Given the description of an element on the screen output the (x, y) to click on. 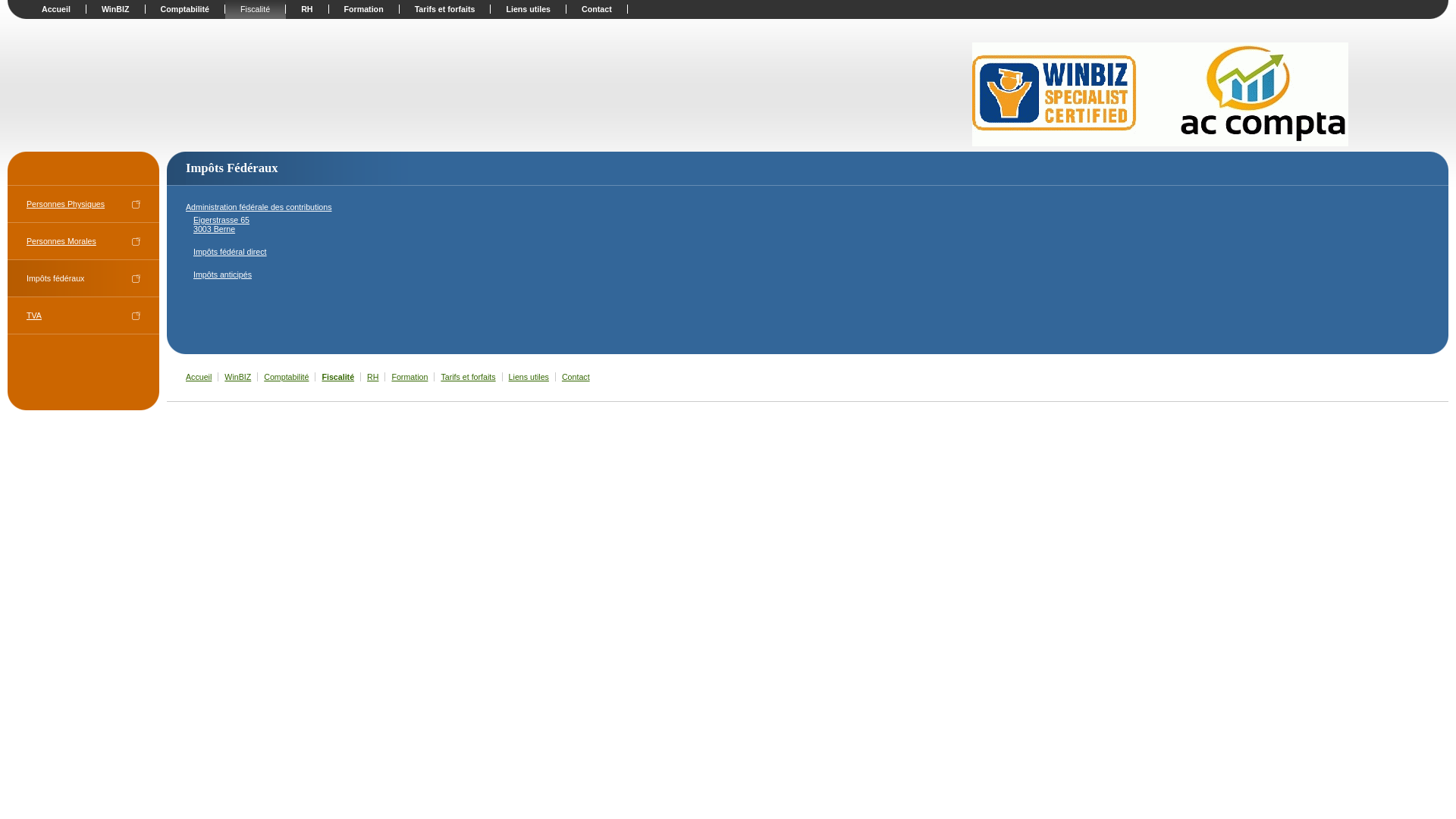
Tarifs et forfaits Element type: text (466, 376)
Formation Element type: text (408, 376)
WinBIZ Element type: text (236, 376)
Liens utiles Element type: text (527, 376)
Contact Element type: text (596, 8)
TVA Element type: text (83, 315)
Accueil Element type: text (197, 376)
Accueil Element type: text (56, 8)
RH Element type: text (371, 376)
Personnes Morales Element type: text (83, 240)
RH Element type: text (306, 8)
Eigerstrasse 65
3003 Berne Element type: text (221, 224)
Liens utiles Element type: text (528, 8)
Personnes Physiques Element type: text (83, 203)
Contact Element type: text (574, 376)
Tarifs et forfaits Element type: text (445, 8)
Formation Element type: text (364, 8)
WinBIZ Element type: text (115, 8)
